Given the description of an element on the screen output the (x, y) to click on. 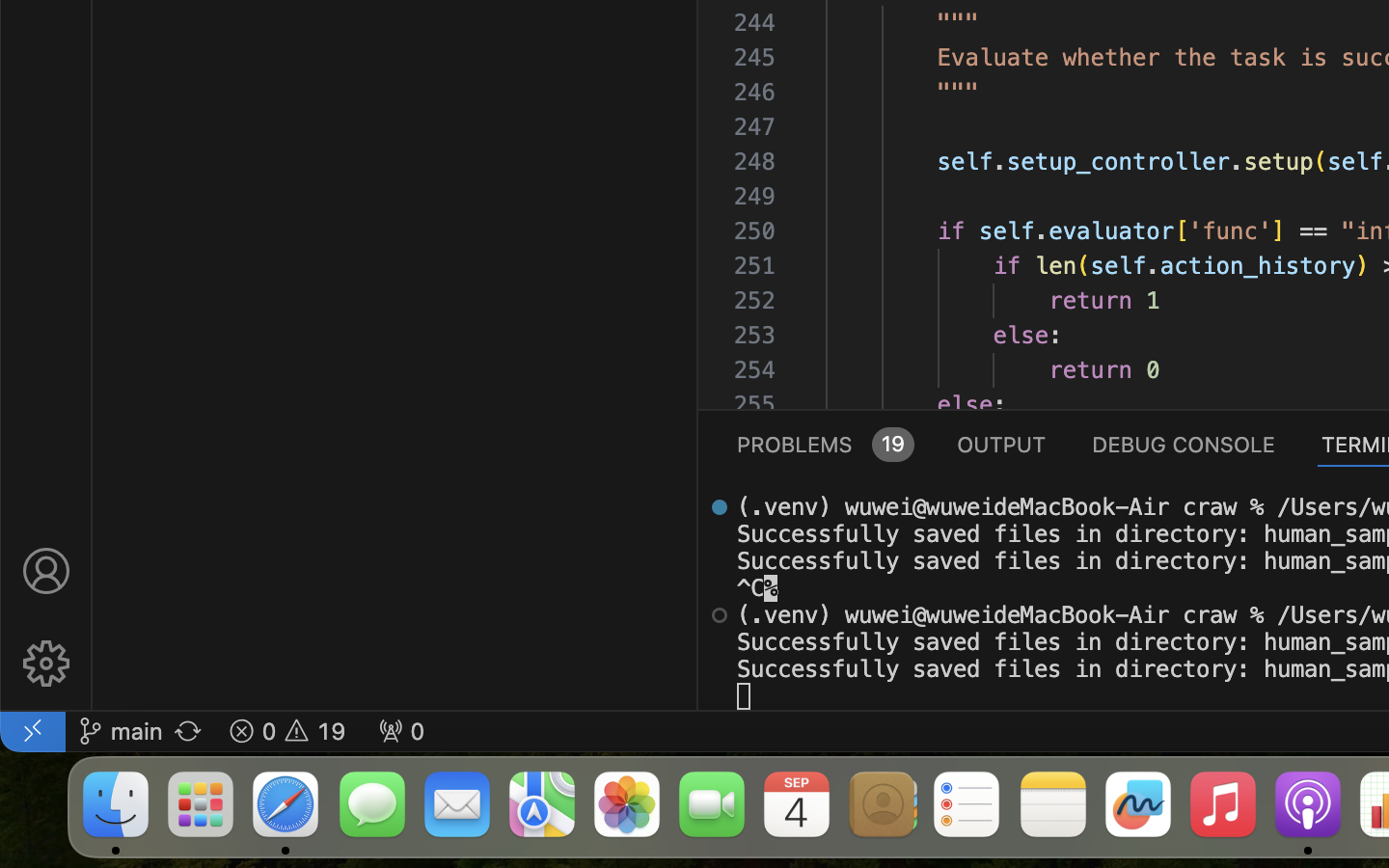
 Element type: AXStaticText (719, 506)
 Element type: AXStaticText (46, 570)
0 DEBUG CONSOLE Element type: AXRadioButton (1183, 443)
 Element type: AXStaticText (719, 614)
0 OUTPUT Element type: AXRadioButton (1001, 443)
